Given the description of an element on the screen output the (x, y) to click on. 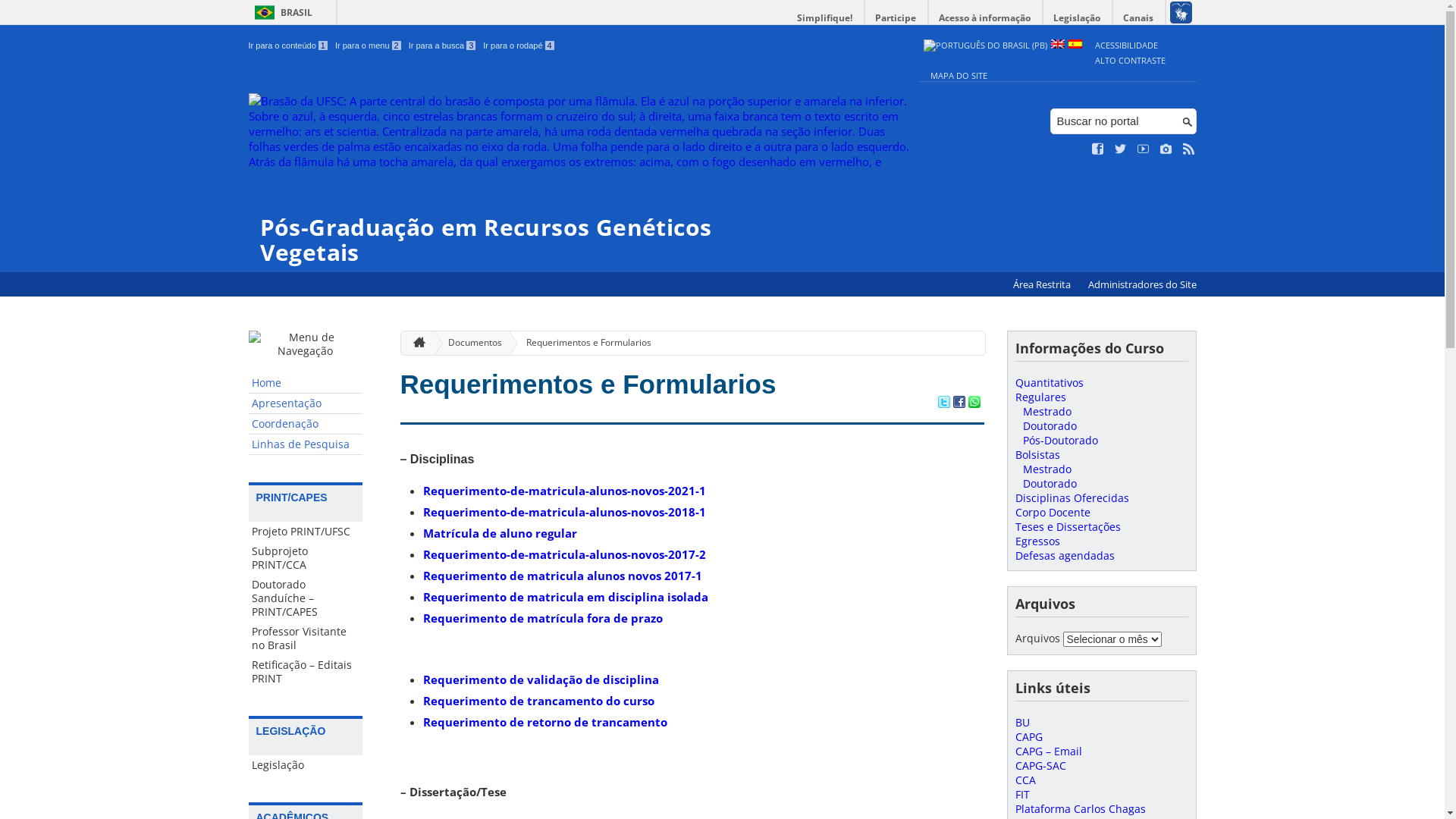
CCA Element type: text (1024, 779)
Requerimento de retorno de trancamento Element type: text (545, 721)
Compartilhar no Facebook Element type: hover (958, 403)
Doutorado Element type: text (1049, 425)
Ir para a busca 3 Element type: text (442, 45)
Subprojeto PRINT/CCA Element type: text (305, 557)
Requerimento-de-matricula-alunos-novos-2021-1 Element type: text (564, 490)
Administradores do Site Element type: text (1141, 284)
Requerimento-de-matricula-alunos-novos-2017-2 Element type: text (564, 553)
Disciplinas Oferecidas Element type: text (1071, 497)
Quantitativos Element type: text (1048, 382)
Projeto PRINT/UFSC Element type: text (305, 531)
Documentos Element type: text (468, 342)
Mestrado Element type: text (1046, 468)
Corpo Docente Element type: text (1051, 512)
Veja no Instagram Element type: hover (1166, 149)
Professor Visitante no Brasil Element type: text (305, 638)
Compartilhar no WhatsApp Element type: hover (973, 403)
Bolsistas Element type: text (1036, 454)
Ir para o menu 2 Element type: text (368, 45)
Doutorado Element type: text (1049, 483)
Regulares Element type: text (1039, 396)
Mestrado Element type: text (1046, 411)
Simplifique! Element type: text (825, 18)
Egressos Element type: text (1036, 540)
Requerimentos e Formularios Element type: text (582, 342)
BU Element type: text (1021, 722)
Requerimento de matricula em disciplina isolada Element type: text (565, 596)
Home Element type: text (305, 383)
CAPG-SAC Element type: text (1039, 765)
Curta no Facebook Element type: hover (1098, 149)
FIT Element type: text (1021, 794)
MAPA DO SITE Element type: text (957, 75)
Siga no Twitter Element type: hover (1120, 149)
BRASIL Element type: text (280, 12)
Linhas de Pesquisa Element type: text (305, 444)
Canais Element type: text (1138, 18)
Requerimento de trancamento do curso Element type: text (538, 700)
Requerimentos e Formularios Element type: text (588, 383)
Requerimento-de-matricula-alunos-novos-2018-1 Element type: text (564, 511)
ACESSIBILIDADE Element type: text (1126, 44)
ALTO CONTRASTE Element type: text (1130, 59)
Defesas agendadas Element type: text (1063, 555)
English (en) Element type: hover (1057, 44)
CAPG Element type: text (1027, 736)
Participe Element type: text (895, 18)
Plataforma Carlos Chagas Element type: text (1079, 808)
Requerimento de matricula alunos novos 2017-1 Element type: text (562, 575)
Compartilhar no Twitter Element type: hover (943, 403)
